Given the description of an element on the screen output the (x, y) to click on. 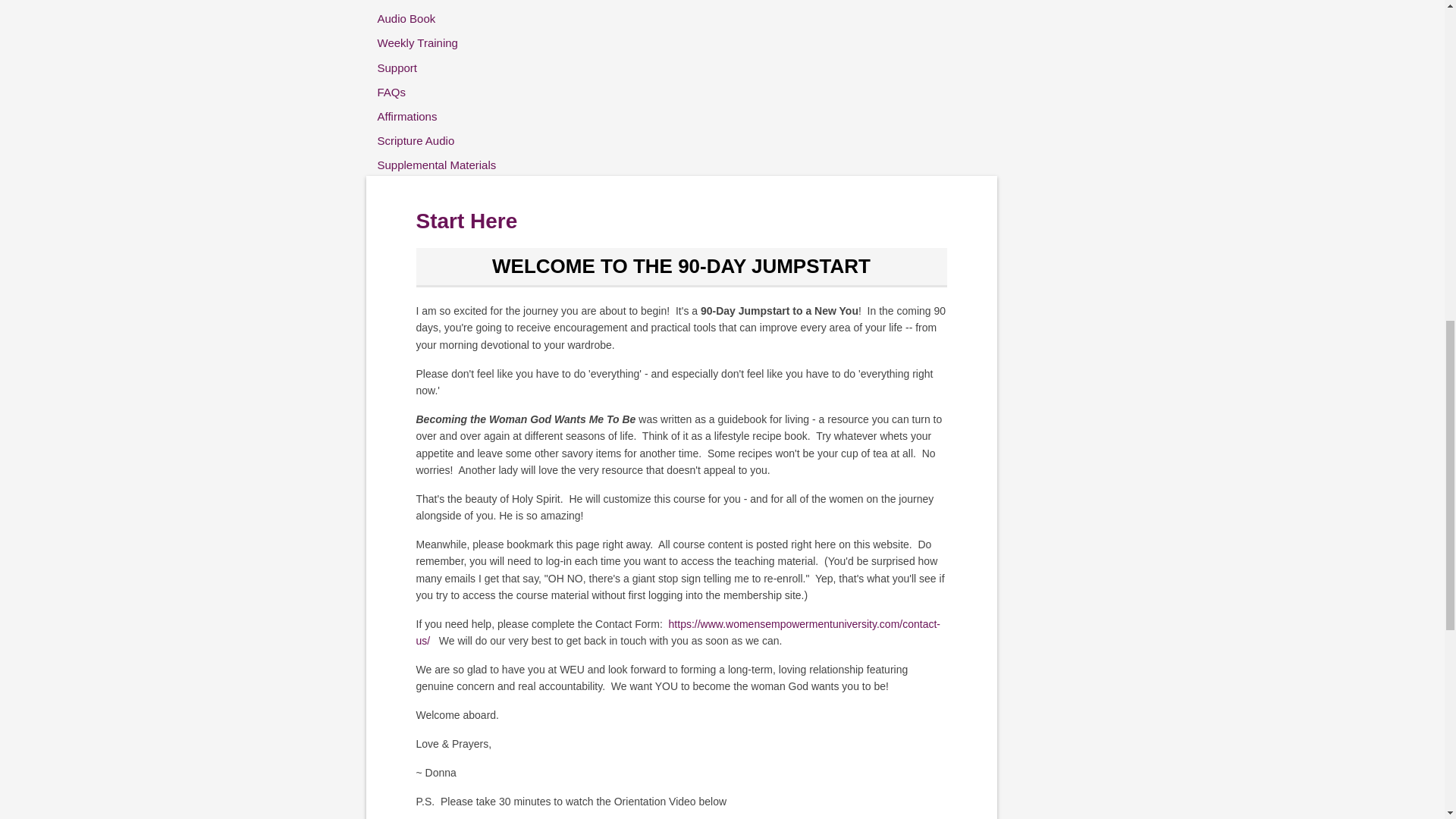
Scripture Audio (448, 140)
Weekly Training (448, 42)
Audio Book (448, 18)
Support (448, 67)
The Book (448, 2)
Affirmations (448, 116)
Supplemental Materials (448, 164)
FAQs (448, 91)
